Given the description of an element on the screen output the (x, y) to click on. 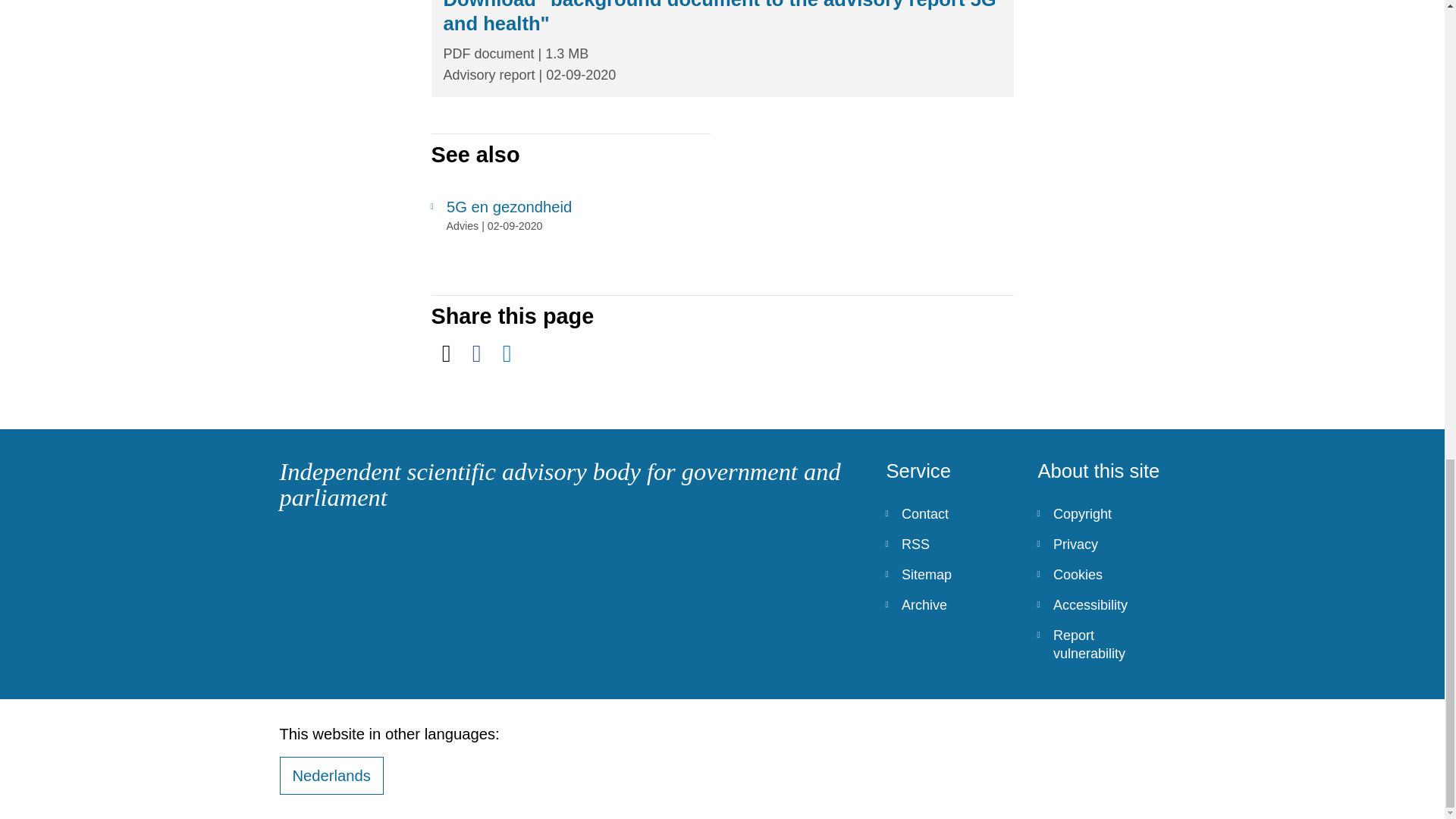
RSS (949, 544)
Copyright (1100, 513)
Share this page on your Twitter account (445, 353)
Accessibility (1100, 604)
Report vulnerability (1100, 644)
5G en gezondheid (570, 206)
Sitemap (949, 574)
Share this page on your Facebook account (476, 353)
Privacy (1100, 544)
Share this page on your LinkedIn account (506, 353)
Contact (949, 513)
Nederlands (330, 775)
Archive (949, 604)
Cookies (1100, 574)
